Given the description of an element on the screen output the (x, y) to click on. 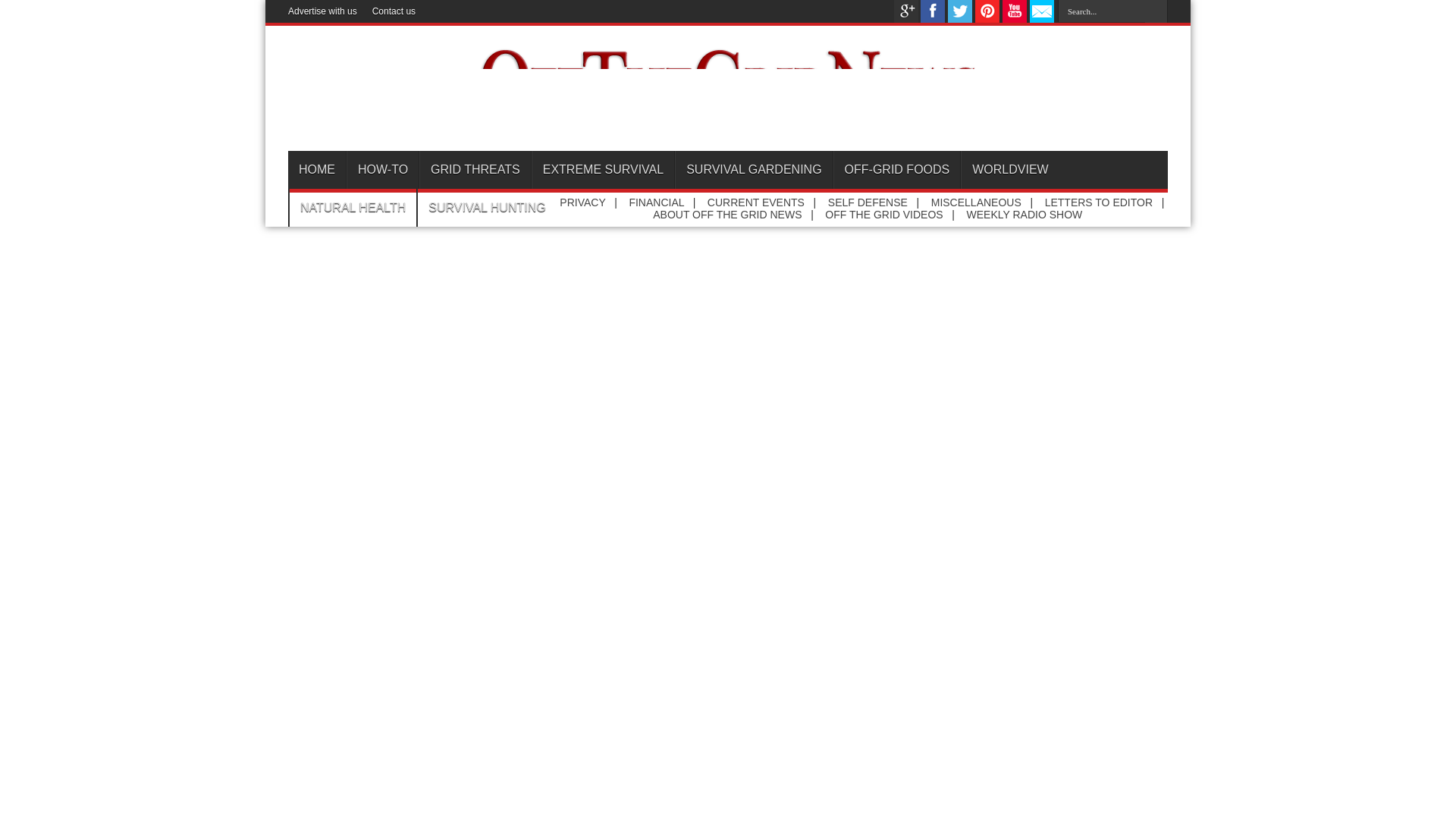
OFF THE GRID VIDEOS (883, 214)
WORLDVIEW (1009, 169)
CURRENT EVENTS (756, 202)
PRIVACY (582, 202)
HOME (317, 169)
SELF DEFENSE (867, 202)
Search (1155, 11)
Advertise with us (322, 11)
LETTERS TO EDITOR (1099, 202)
Off The Grid News (727, 125)
WEEKLY RADIO SHOW (1024, 214)
EXTREME SURVIVAL (602, 169)
GRID THREATS (475, 169)
Contact us (393, 11)
MISCELLANEOUS (976, 202)
